Given the description of an element on the screen output the (x, y) to click on. 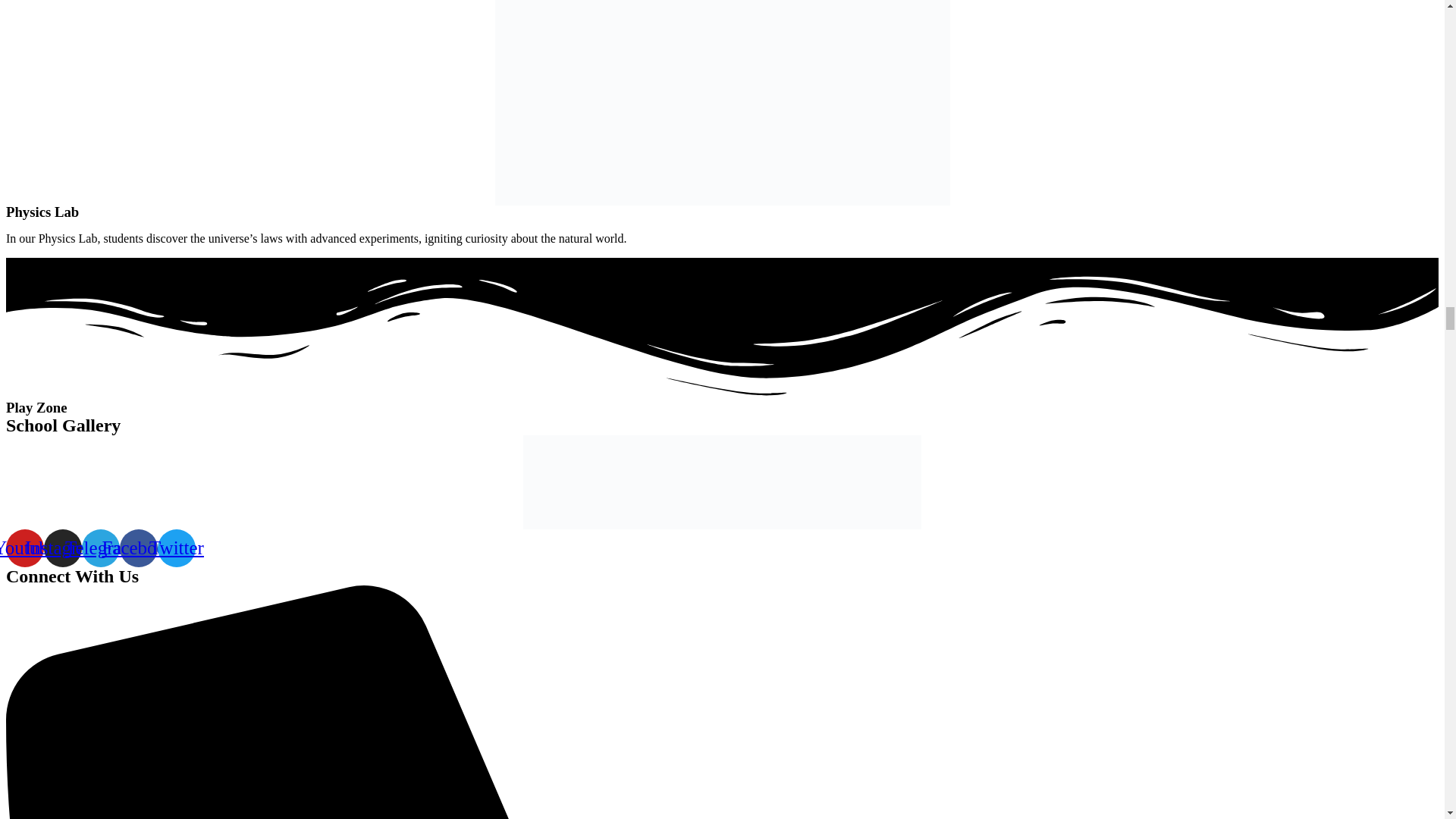
Facebook (138, 548)
Instagram (62, 548)
Telegram (100, 548)
Youtube (24, 548)
